Given the description of an element on the screen output the (x, y) to click on. 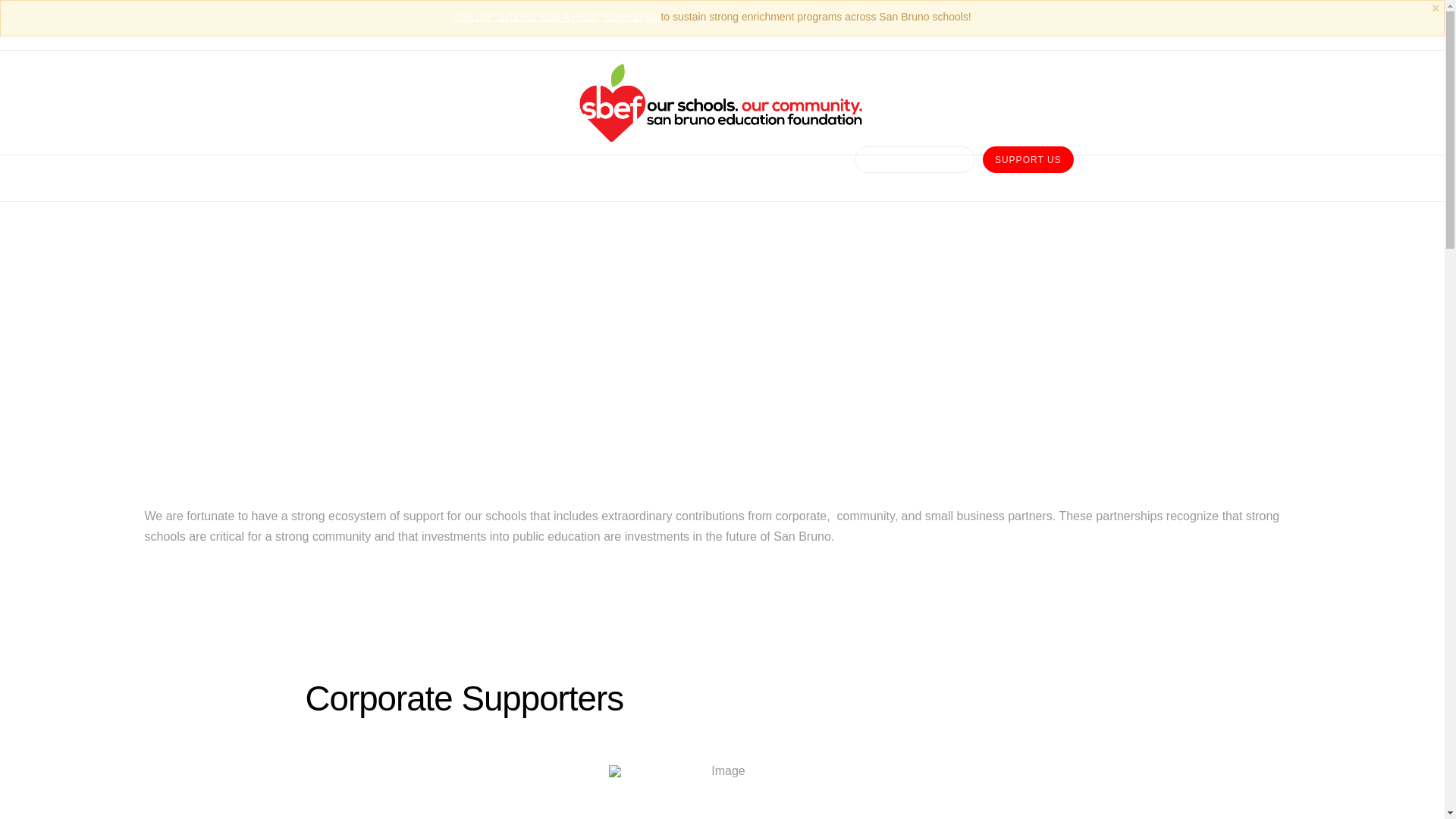
WHO WE ARE (544, 177)
BLOG (722, 177)
WHY WE EXIST (440, 177)
CONTACT US (801, 177)
SUPPORT US (1027, 177)
HOME (354, 177)
OUR SUPPORTERS (914, 177)
WHAT WE DO (643, 177)
